Given the description of an element on the screen output the (x, y) to click on. 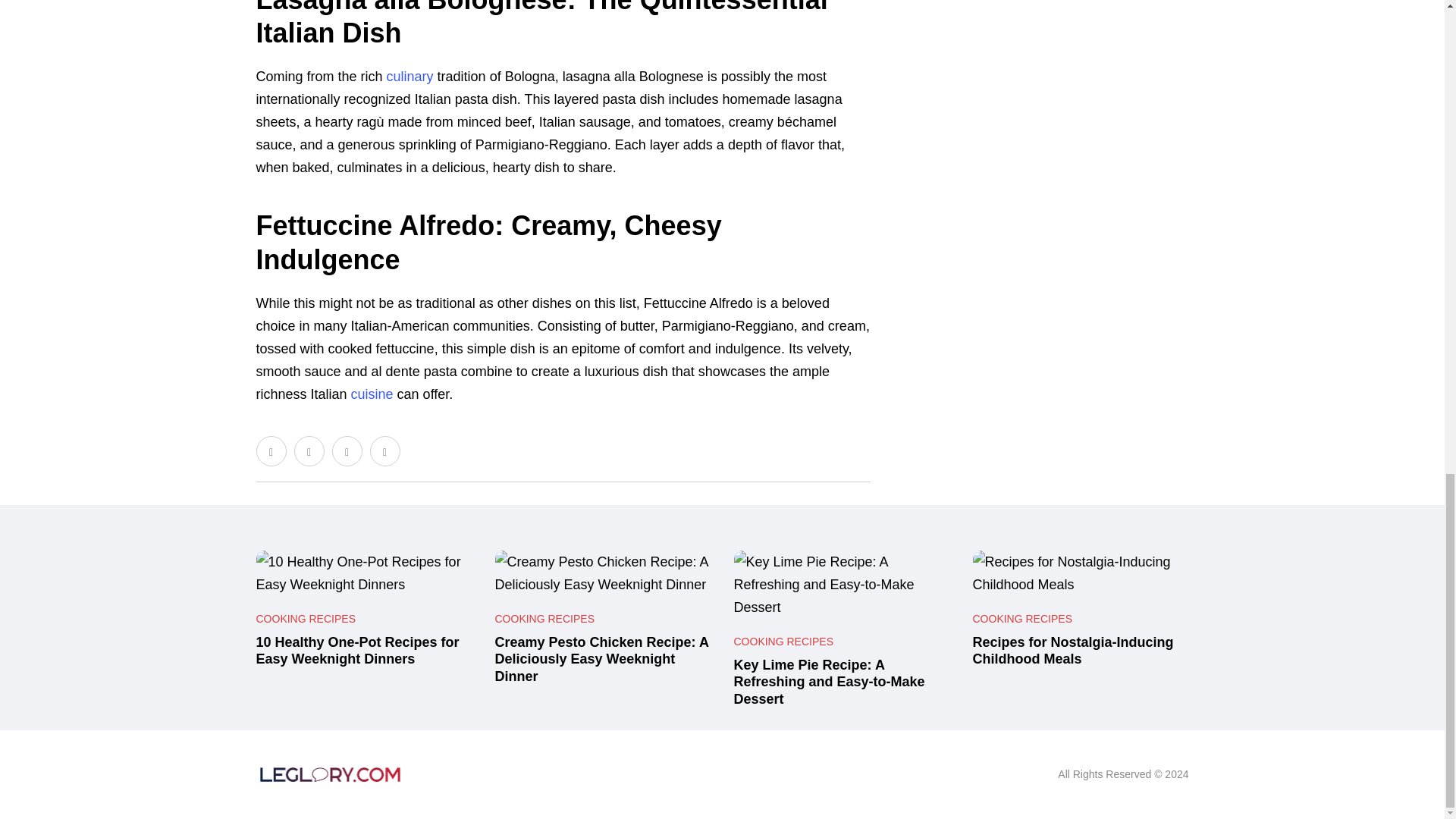
culinary (410, 76)
culinary (410, 76)
cuisine (371, 394)
